Given the description of an element on the screen output the (x, y) to click on. 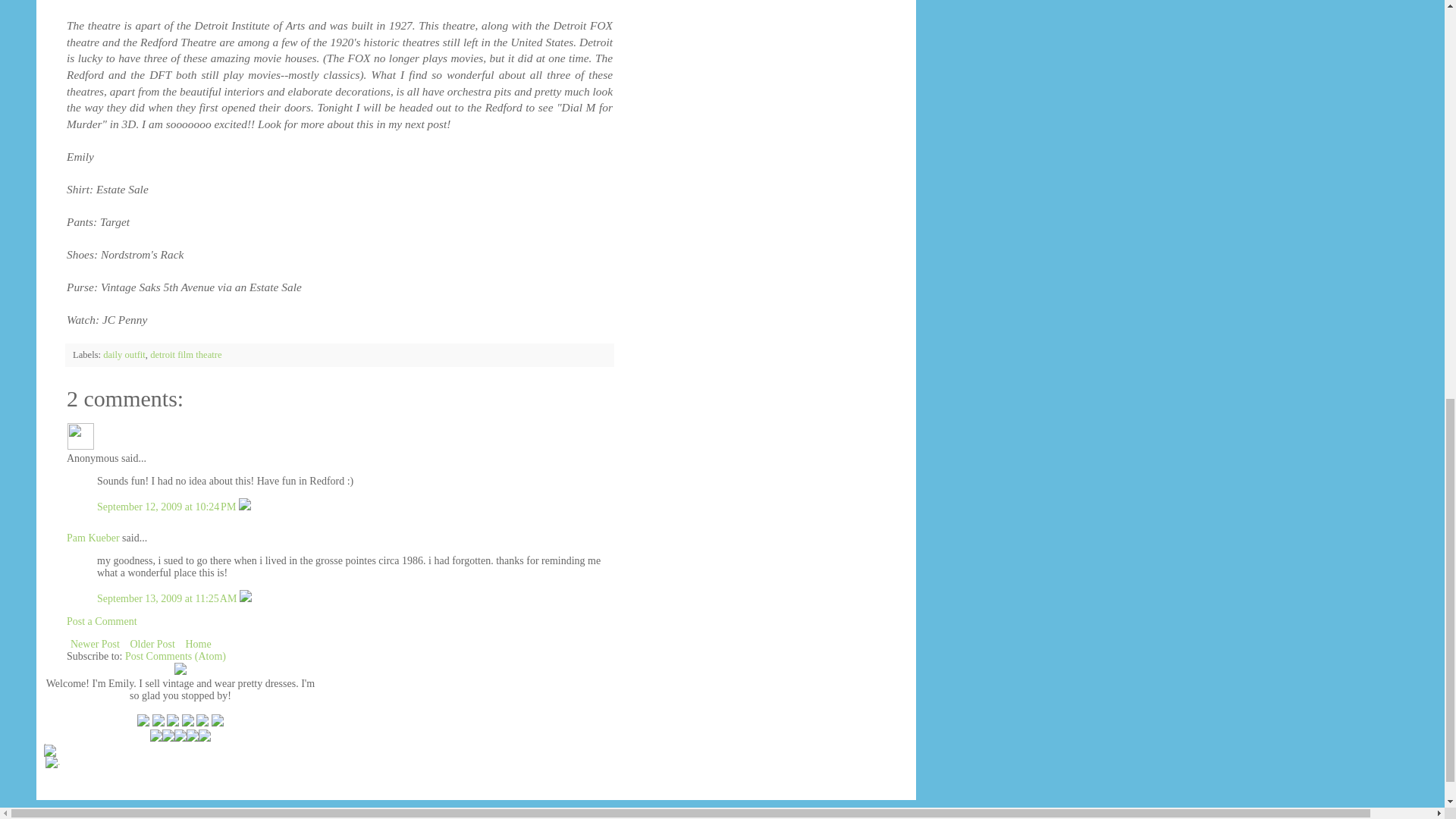
Anonymous (80, 436)
detroit film theatre (185, 354)
Home (197, 643)
comment permalink (167, 506)
Older Post (152, 643)
Post a Comment (101, 621)
daily outfit (124, 354)
Older Post (152, 643)
